Given the description of an element on the screen output the (x, y) to click on. 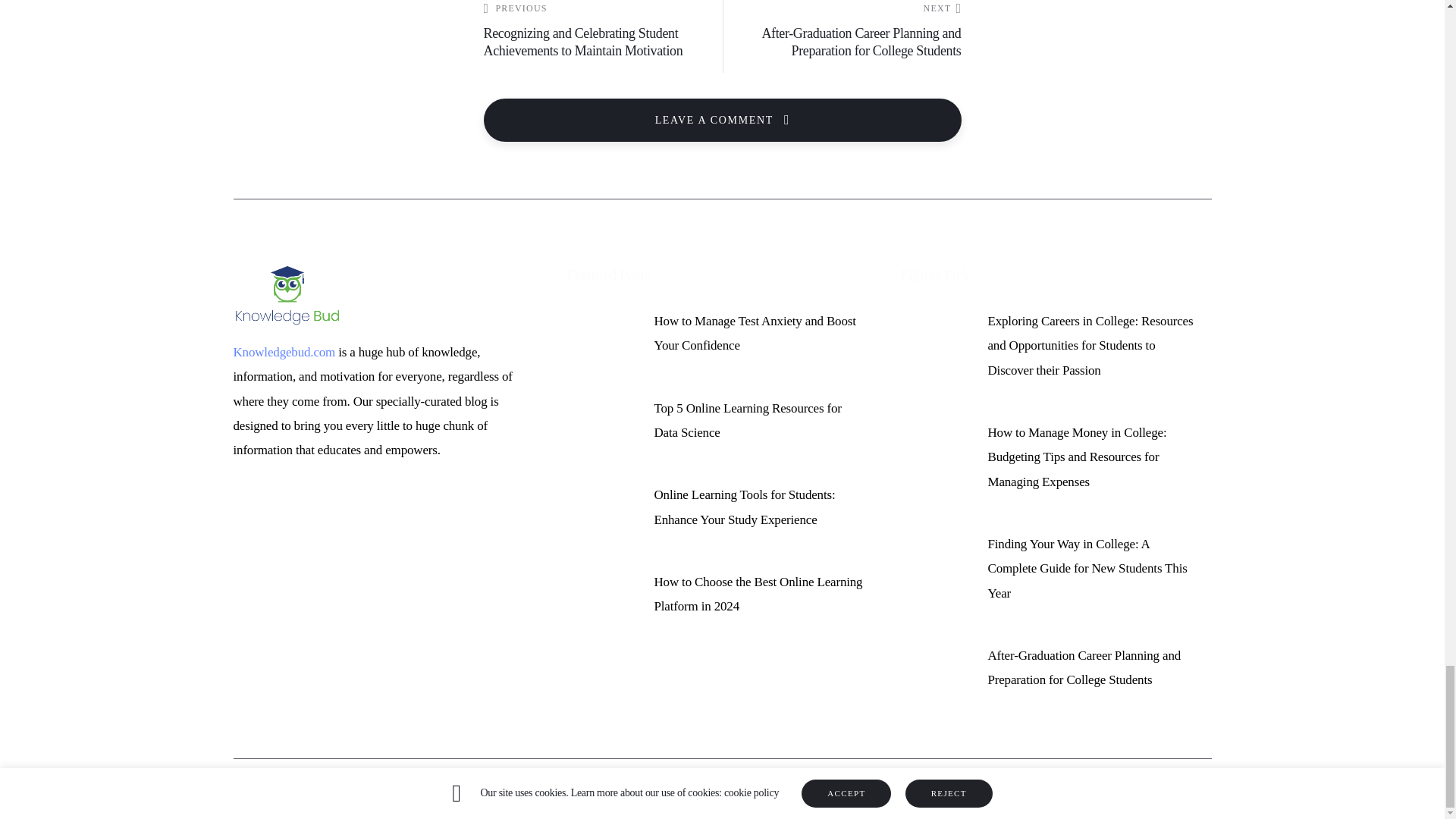
LEAVE A COMMENT (721, 119)
Top 5 Online Learning Resources for Data Science (604, 403)
How to Choose the Best Online Learning Platform in 2024 (604, 583)
How to Choose the Best Online Learning Platform in 2024 (757, 593)
How to Manage Test Anxiety and Boost Your Confidence (604, 323)
Top 5 Online Learning Resources for Data Science (747, 420)
How to Manage Test Anxiety and Boost Your Confidence (754, 332)
